Given the description of an element on the screen output the (x, y) to click on. 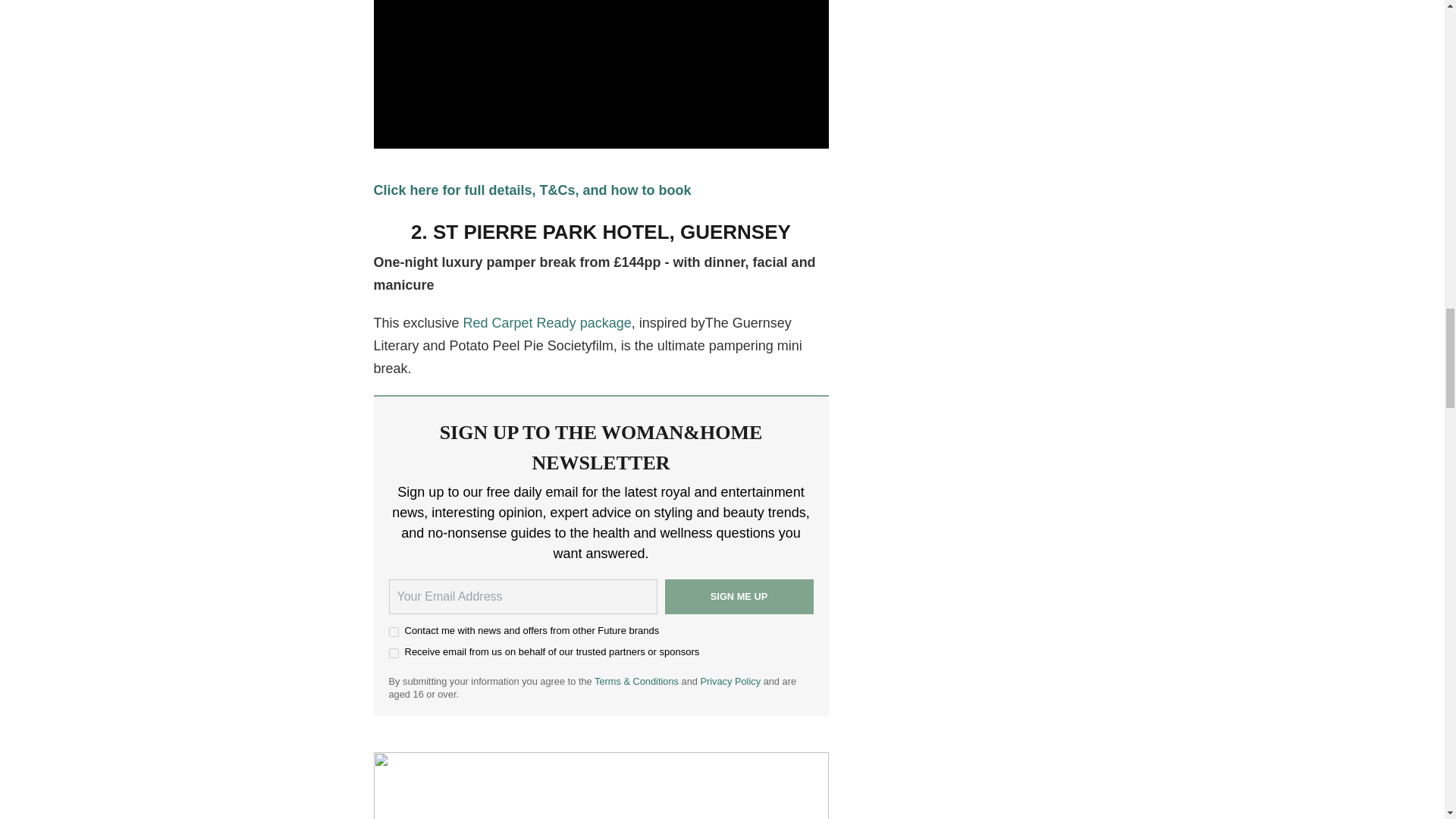
on (392, 653)
Sign me up (737, 596)
on (392, 632)
